Given the description of an element on the screen output the (x, y) to click on. 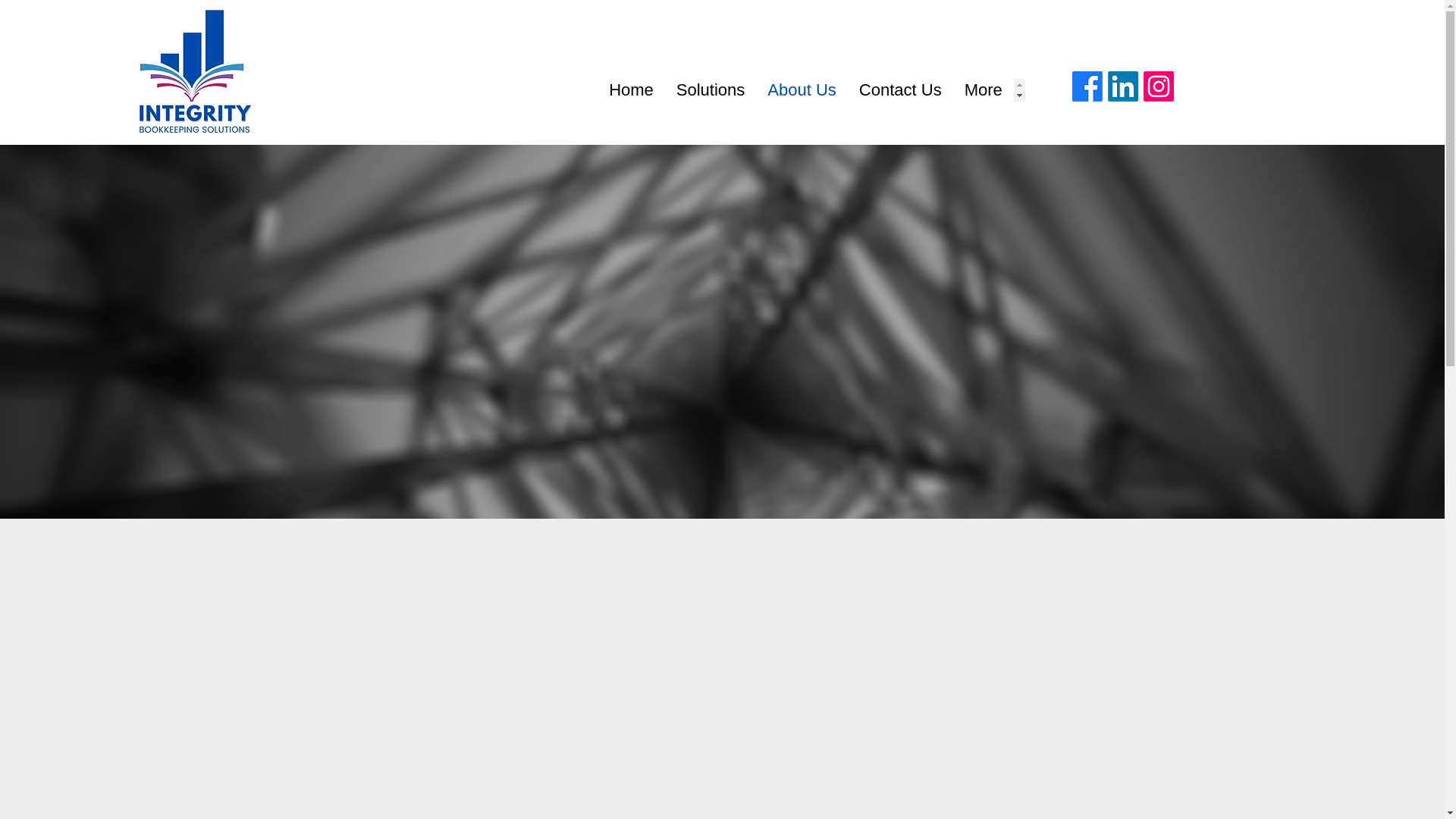
Contact Us (900, 89)
About Us (801, 89)
Solutions (711, 89)
Home (630, 89)
